Given the description of an element on the screen output the (x, y) to click on. 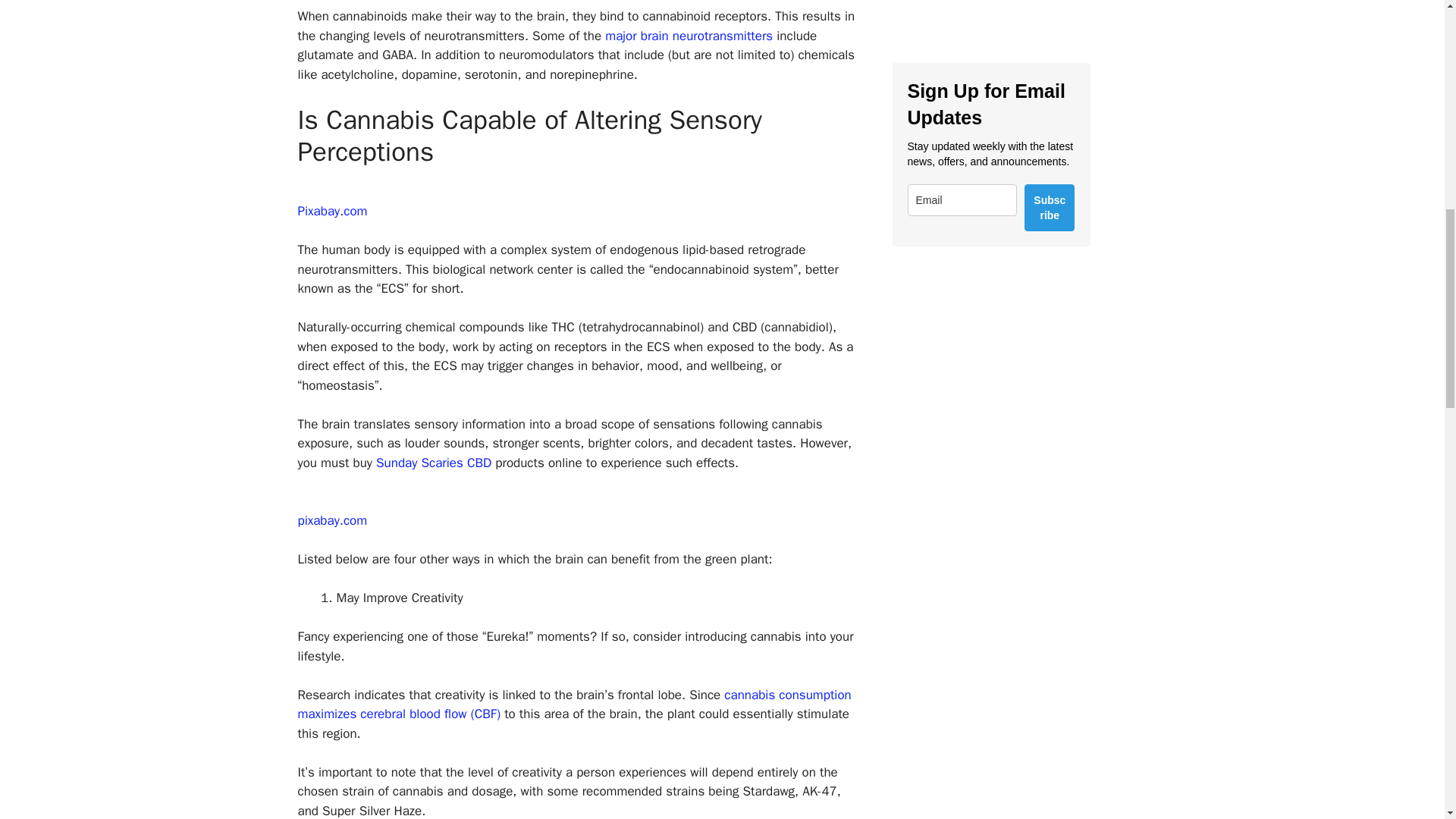
pixabay.com (331, 520)
Sunday Scaries CBD (433, 462)
Pixabay.com (331, 211)
major brain neurotransmitters (689, 35)
